Given the description of an element on the screen output the (x, y) to click on. 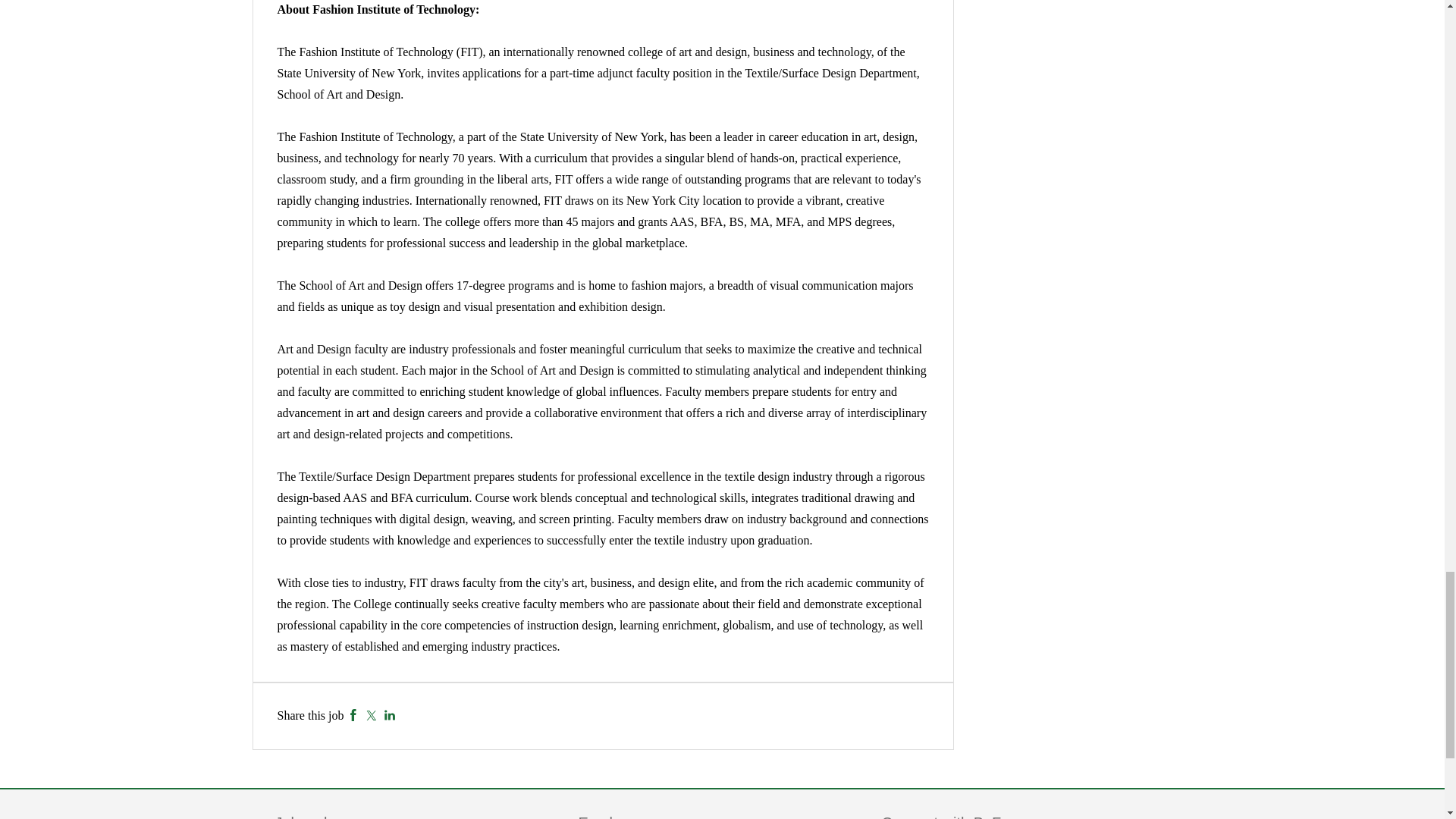
Facebook (353, 715)
LinkedIn (390, 715)
Twitter (371, 715)
